Given the description of an element on the screen output the (x, y) to click on. 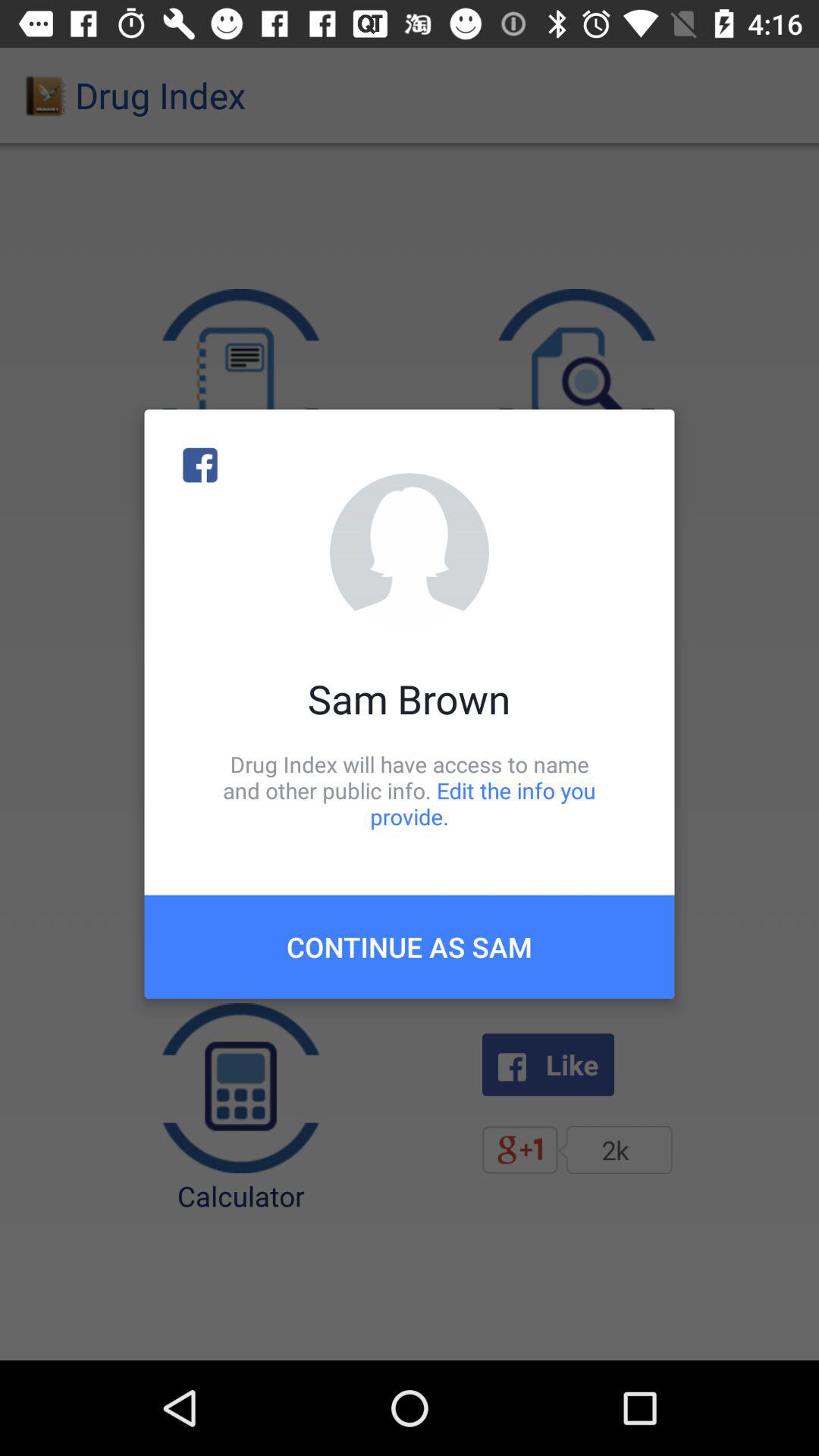
flip to continue as sam icon (409, 946)
